Given the description of an element on the screen output the (x, y) to click on. 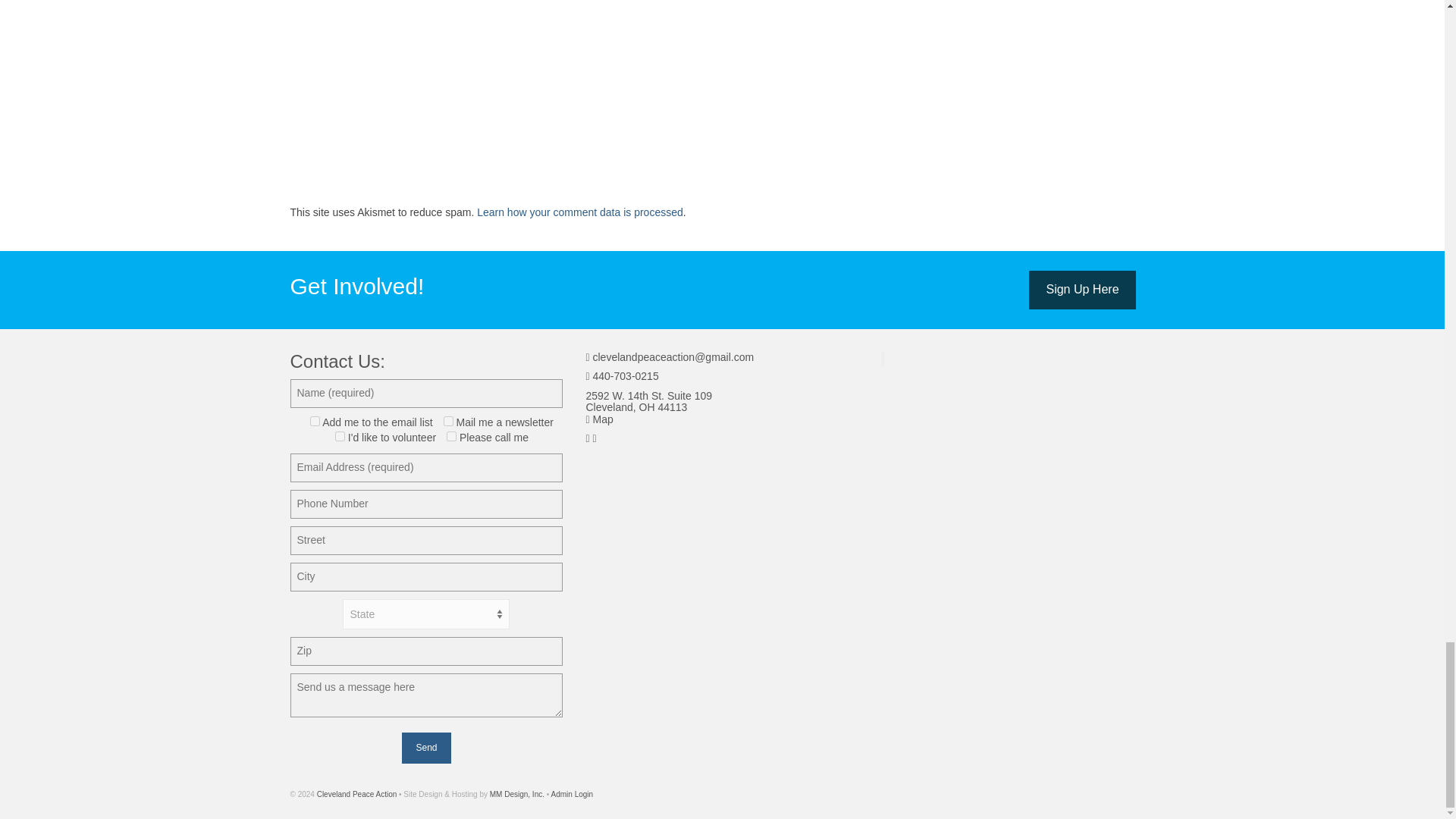
Please call me (451, 436)
I'd like to volunteer (339, 436)
Mail me a newsletter (448, 420)
Add me to the email list (315, 420)
Send (425, 747)
